Given the description of an element on the screen output the (x, y) to click on. 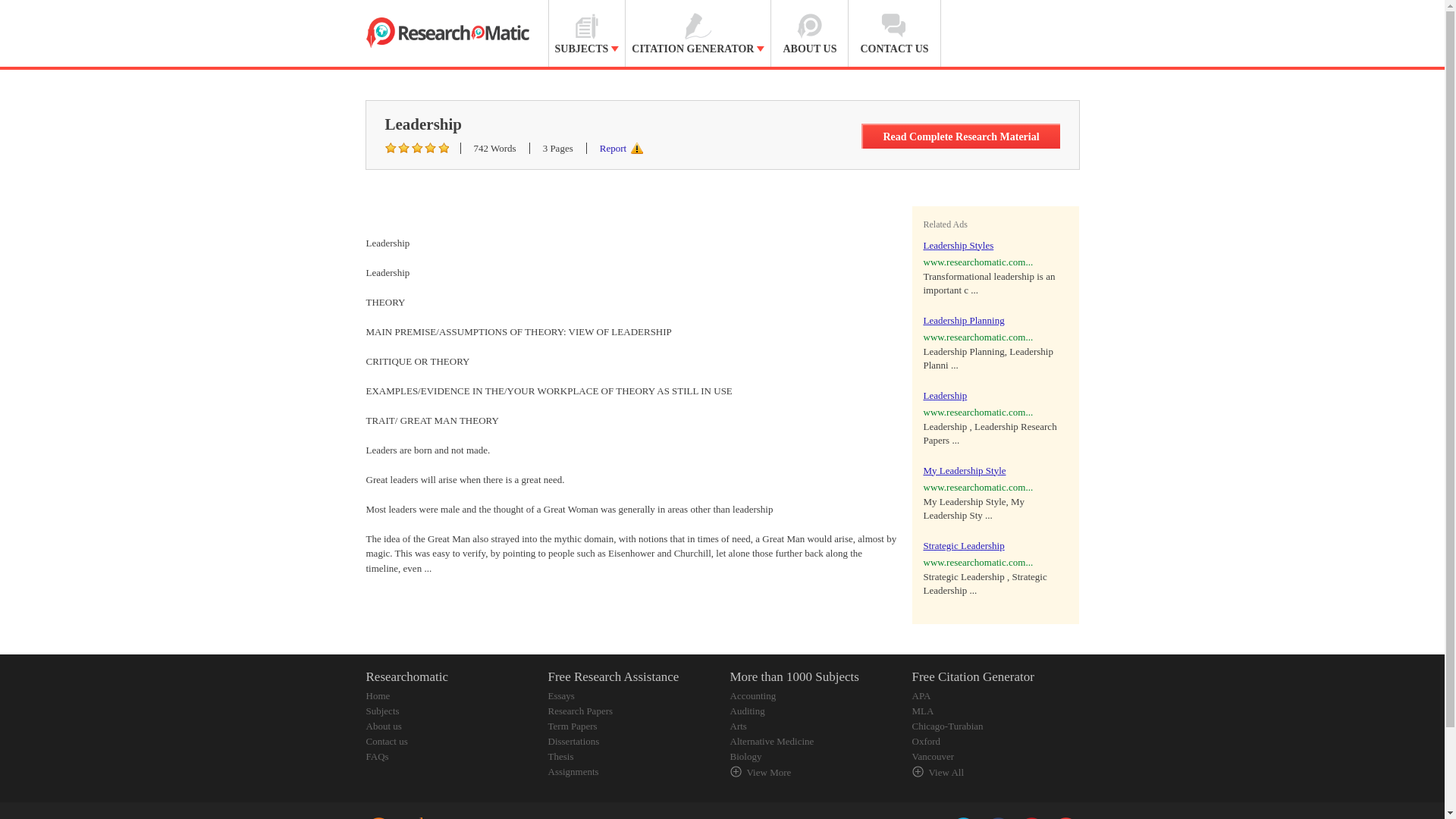
CITATION GENERATOR (698, 33)
SUBJECTS (587, 33)
